Given the description of an element on the screen output the (x, y) to click on. 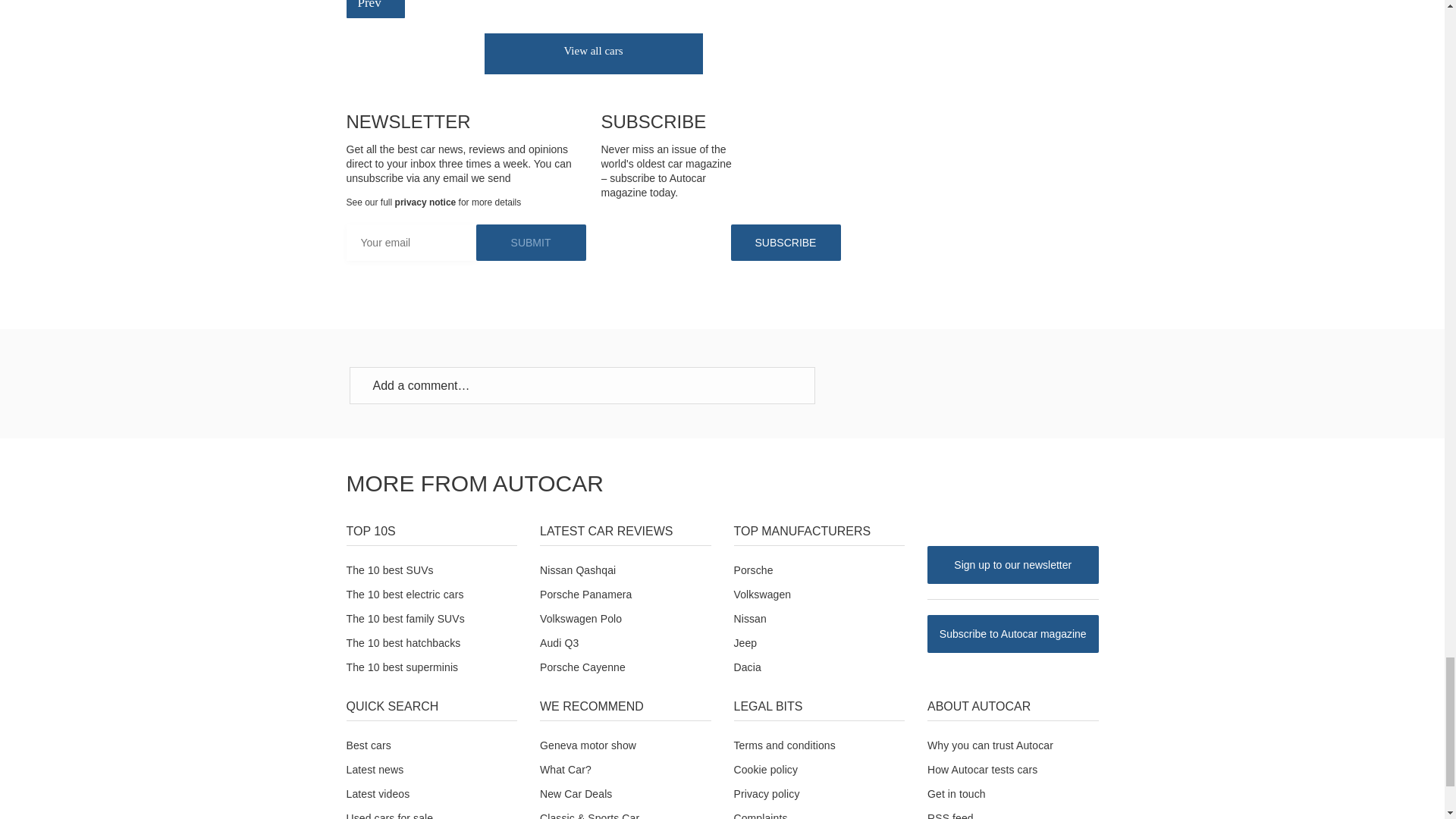
Submit (531, 242)
